Given the description of an element on the screen output the (x, y) to click on. 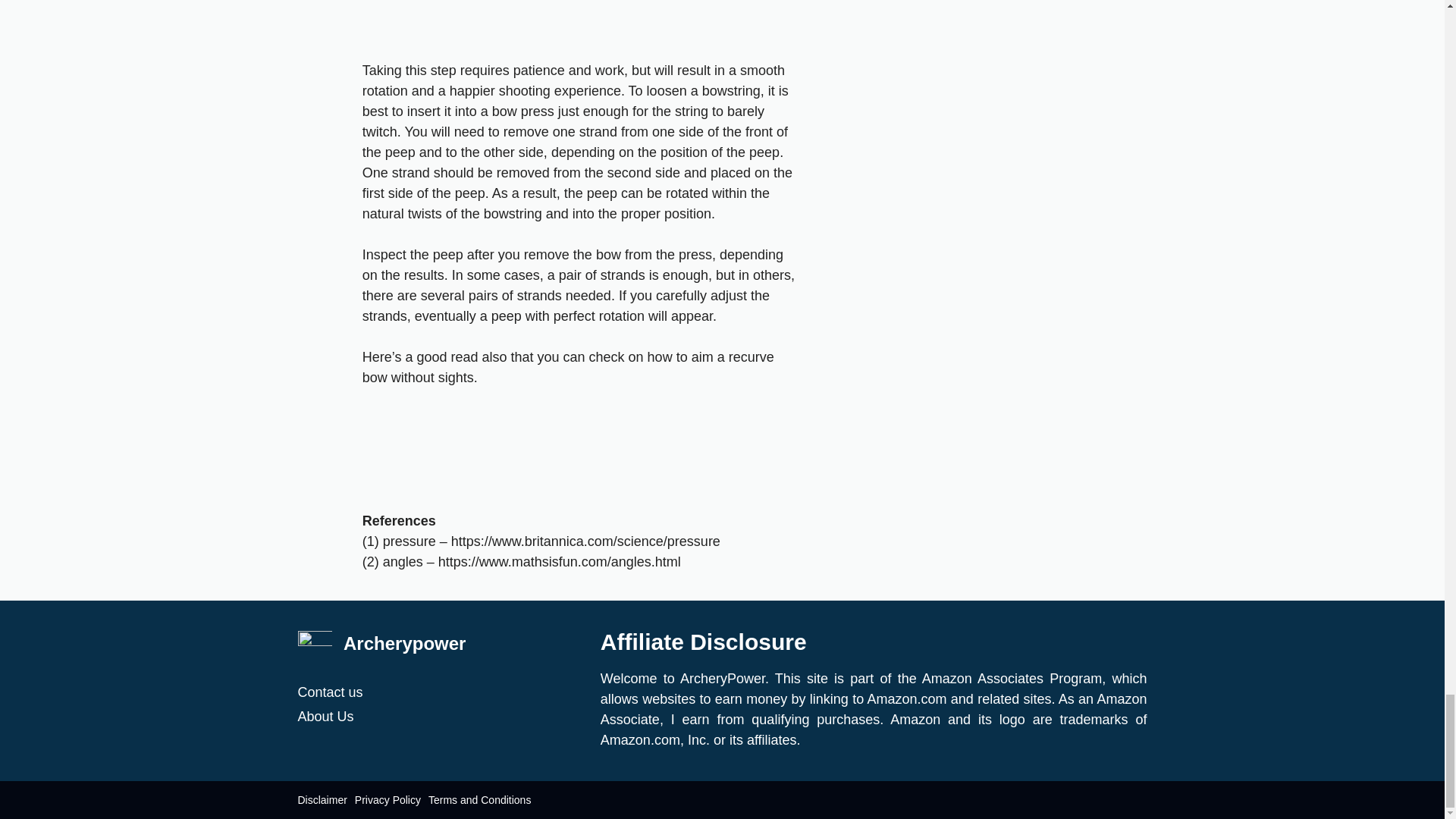
Terms and Conditions (479, 799)
Disclaimer (321, 799)
how to aim a recurve bow without sights (568, 366)
Archerypower (404, 643)
Contact us (441, 692)
About Us (441, 716)
Privacy Policy (387, 799)
